Given the description of an element on the screen output the (x, y) to click on. 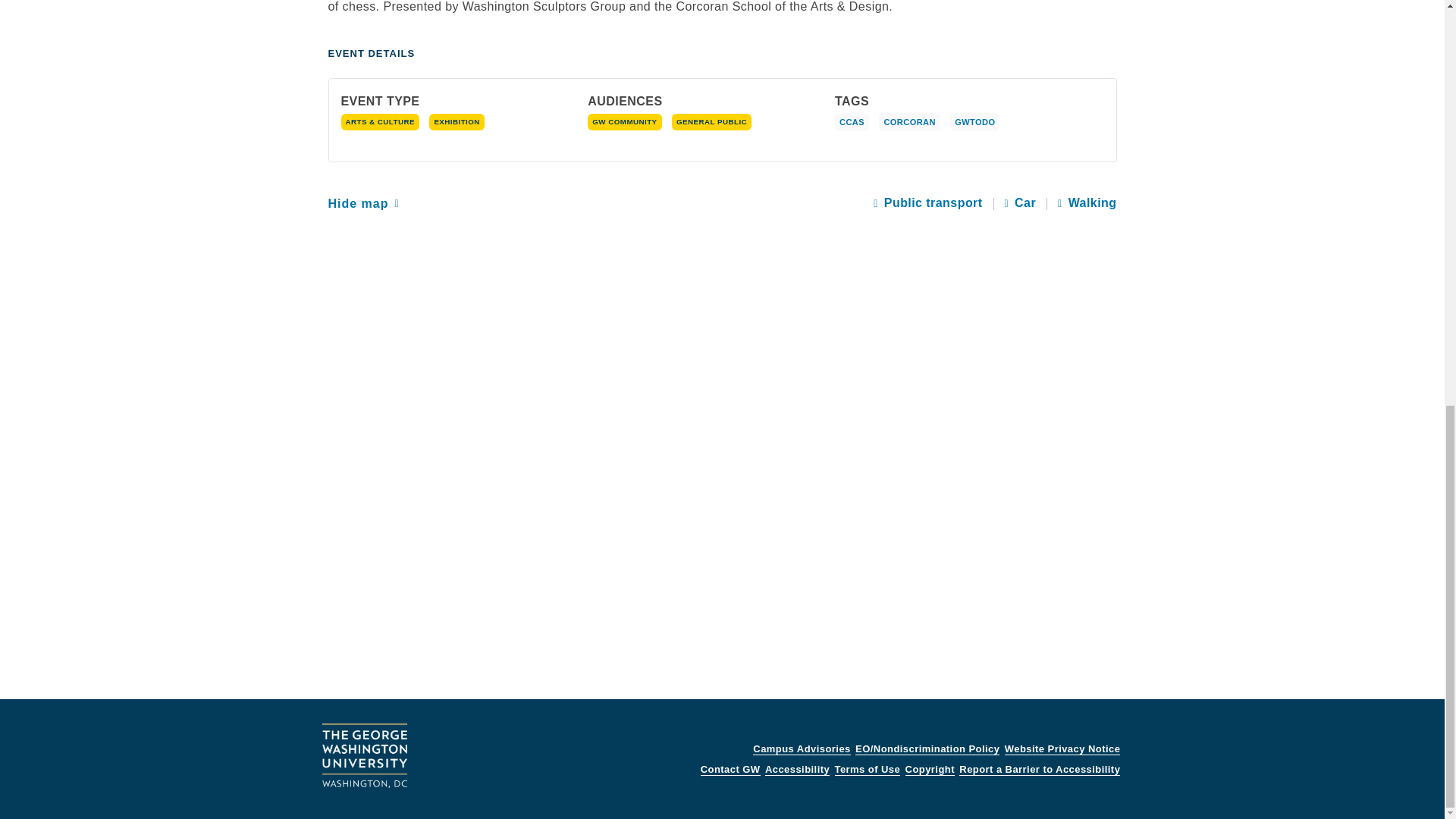
GENERAL PUBLIC (711, 121)
GWTODO (978, 120)
CORCORAN (911, 120)
CCAS (854, 120)
EXHIBITION (456, 121)
GW COMMUNITY (624, 121)
